Given the description of an element on the screen output the (x, y) to click on. 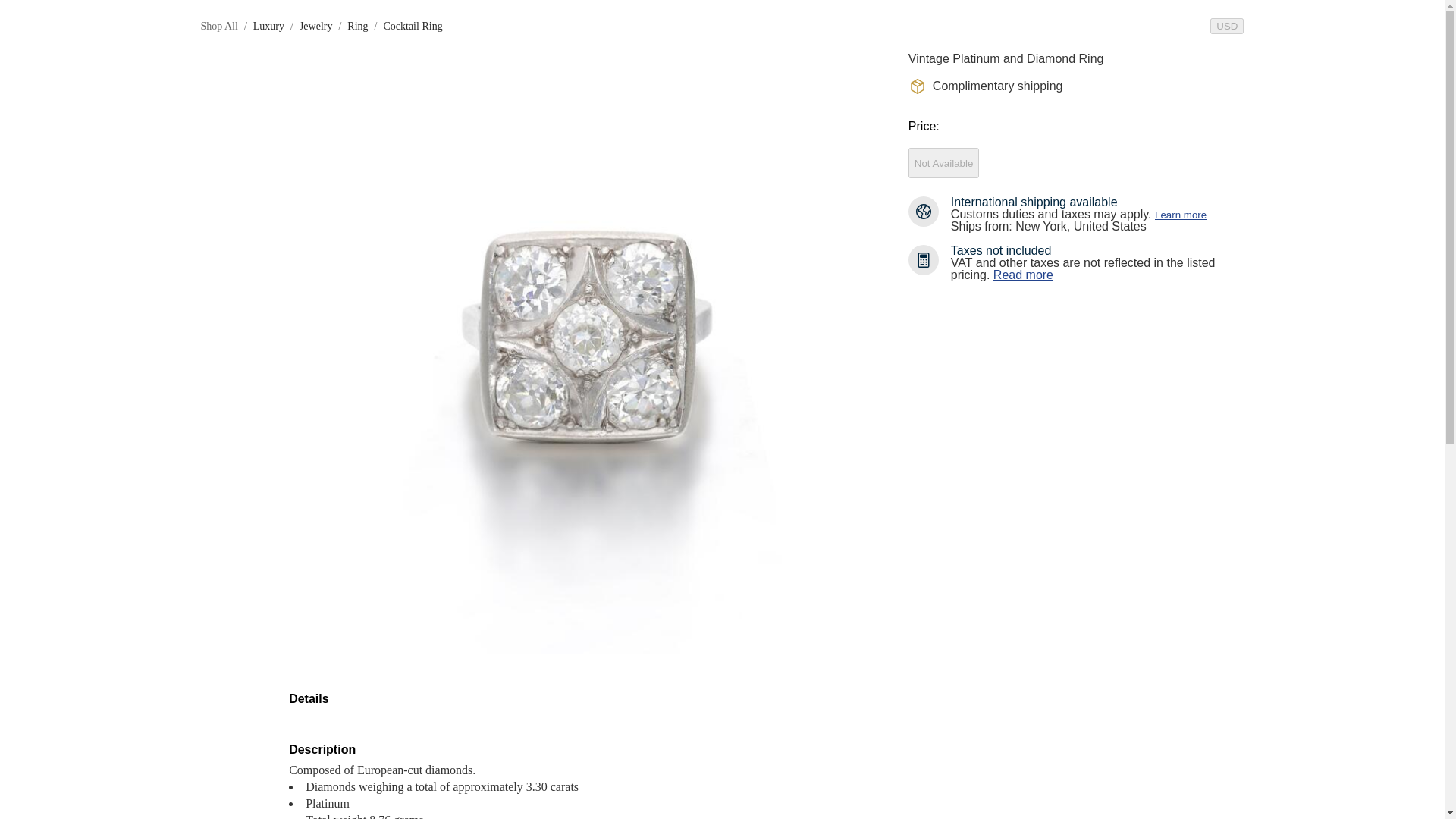
Read more (1022, 274)
USD (1226, 26)
Learn more (1180, 214)
Shop All (218, 25)
Not Available (943, 163)
